Given the description of an element on the screen output the (x, y) to click on. 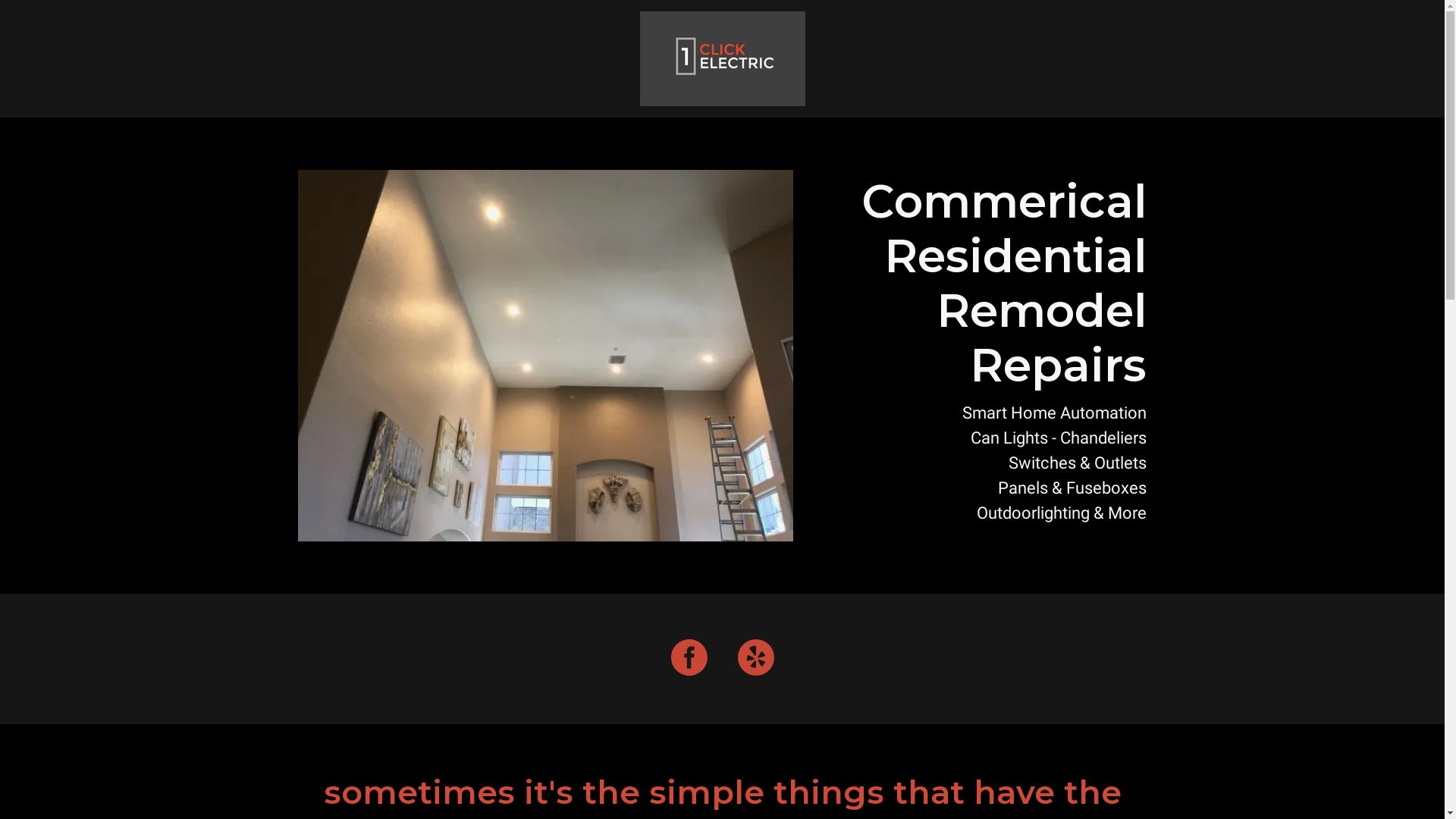
                Element type: hover (722, 57)
